Given the description of an element on the screen output the (x, y) to click on. 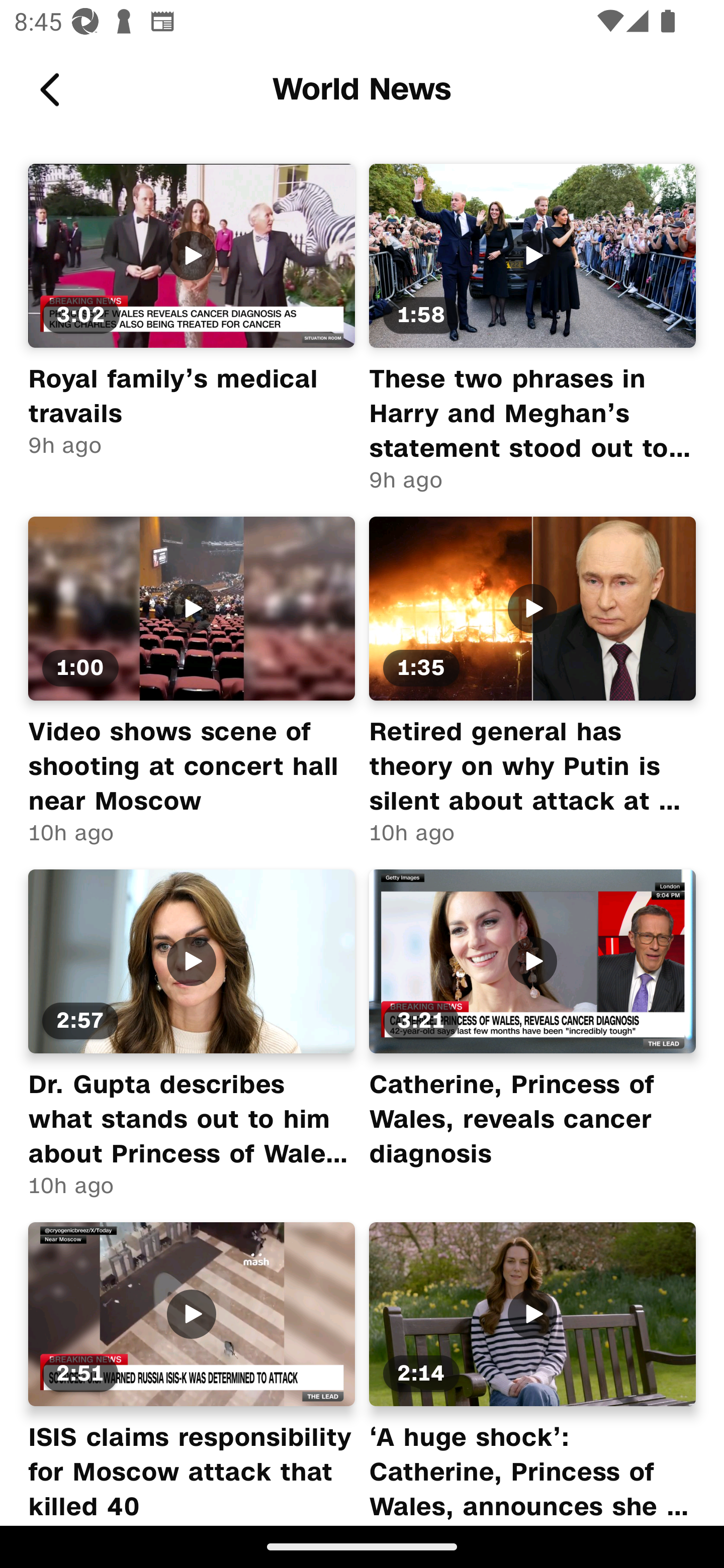
Back Button (52, 89)
